Given the description of an element on the screen output the (x, y) to click on. 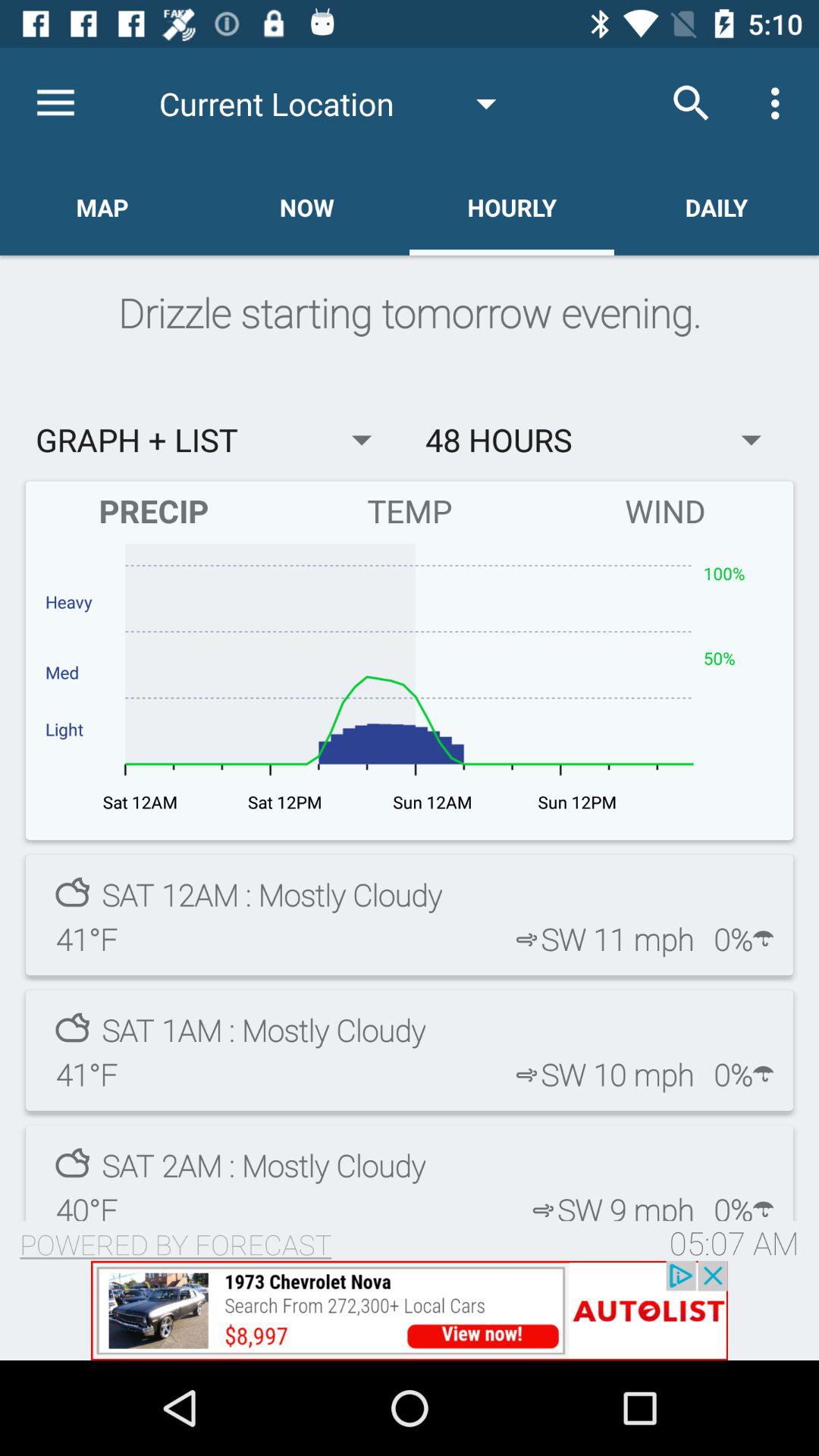
view advertisement (409, 1310)
